Given the description of an element on the screen output the (x, y) to click on. 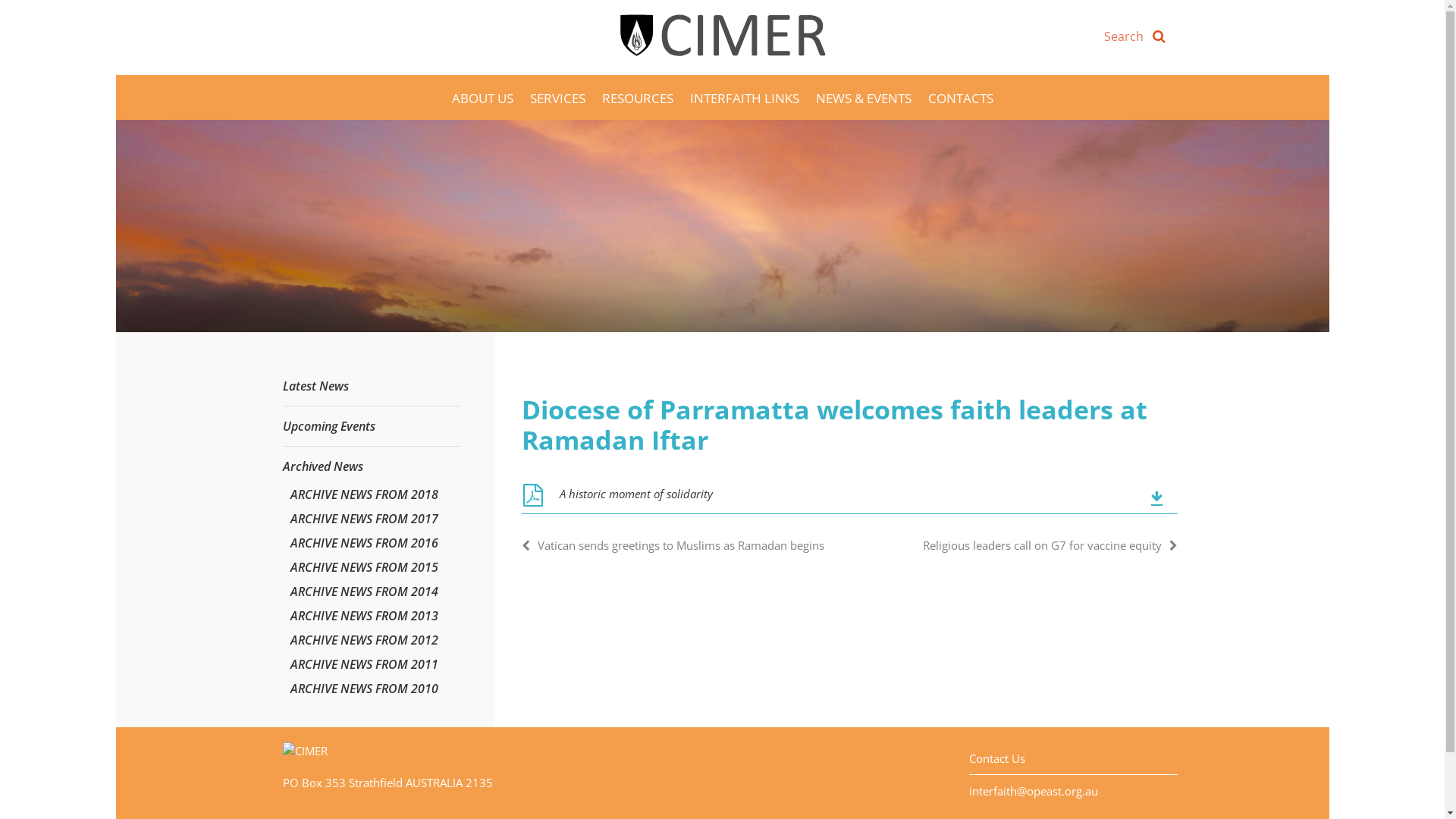
SERVICES Element type: text (556, 97)
ARCHIVE NEWS FROM 2015 Element type: text (363, 566)
ARCHIVE NEWS FROM 2016 Element type: text (363, 542)
interfaith@opeast.org.au Element type: text (1033, 790)
ARCHIVE NEWS FROM 2011 Element type: text (363, 663)
INTERFAITH LINKS Element type: text (744, 97)
Latest News Element type: text (315, 385)
ARCHIVE NEWS FROM 2013 Element type: text (363, 615)
CONTACTS Element type: text (960, 97)
ARCHIVE NEWS FROM 2014 Element type: text (363, 591)
Archived News Element type: text (322, 466)
ARCHIVE NEWS FROM 2017 Element type: text (363, 518)
ARCHIVE NEWS FROM 2012 Element type: text (363, 639)
ARCHIVE NEWS FROM 2010 Element type: text (363, 688)
Vatican sends greetings to Muslims as Ramadan begins Element type: text (672, 544)
NEWS & EVENTS Element type: text (863, 97)
ABOUT US Element type: text (482, 97)
RESOURCES Element type: text (637, 97)
ARCHIVE NEWS FROM 2018 Element type: text (363, 494)
Religious leaders call on G7 for vaccine equity Element type: text (1049, 544)
Upcoming Events Element type: text (328, 425)
A historic moment of solidarity Element type: text (849, 499)
